Given the description of an element on the screen output the (x, y) to click on. 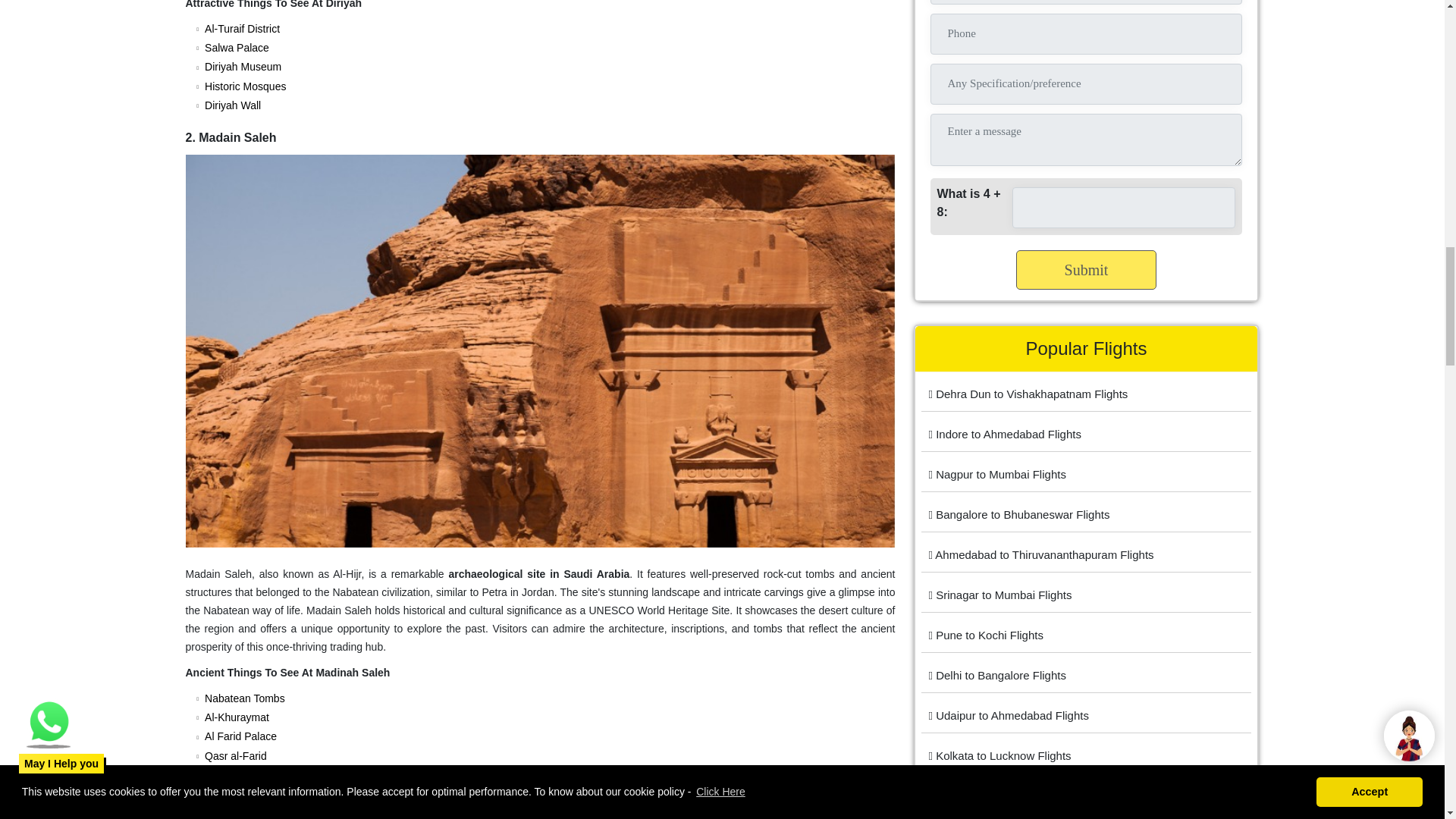
Submit (1086, 269)
